Given the description of an element on the screen output the (x, y) to click on. 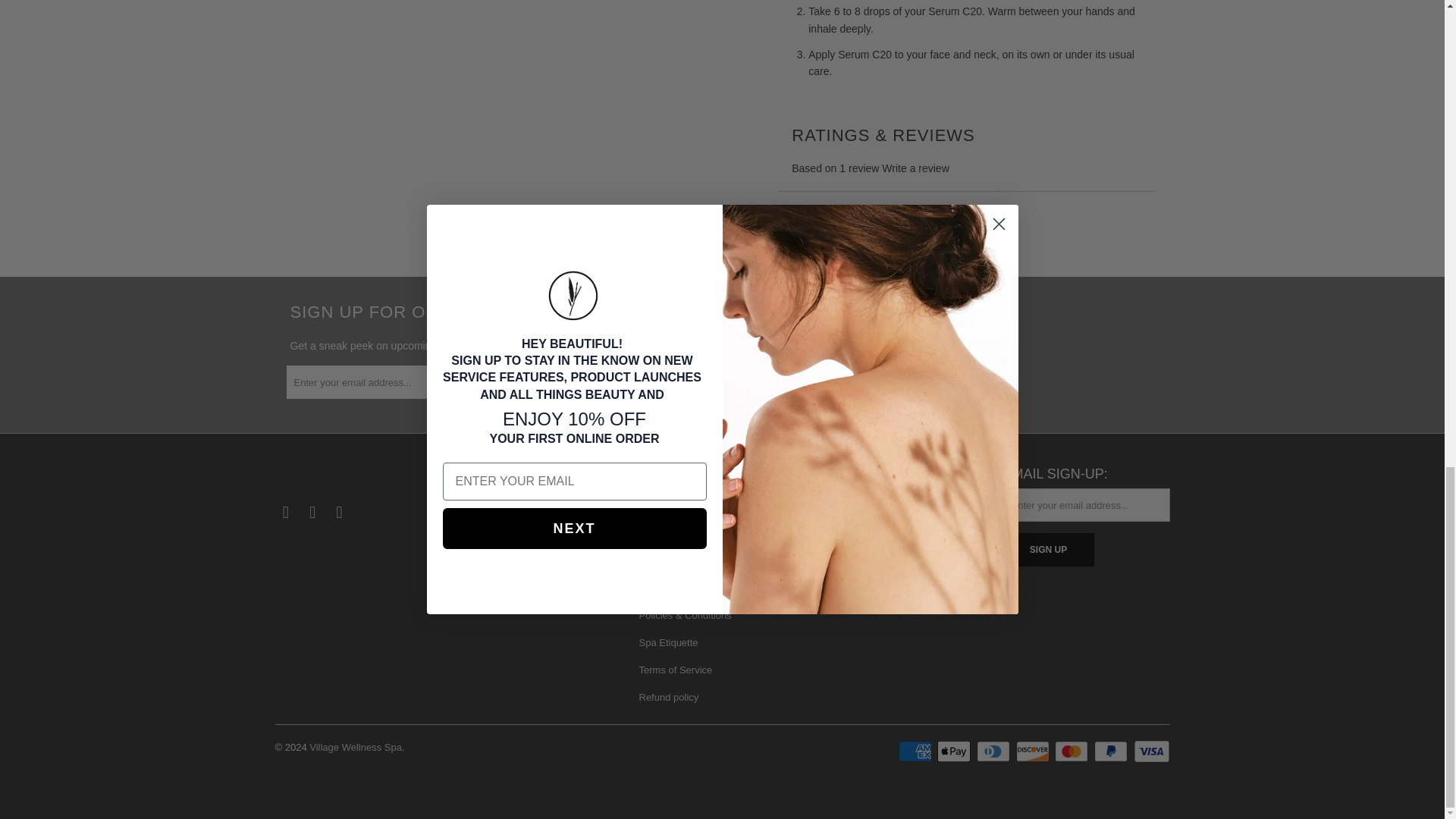
Visa (1150, 751)
PayPal (1112, 751)
Village Wellness Spa on Instagram (312, 512)
American Express (916, 751)
Share this on Facebook (834, 223)
Sign Up (1048, 549)
Share this on Twitter (793, 223)
Email Village Wellness Spa (339, 512)
Discover (1034, 751)
Share this on Pinterest (875, 223)
Village Wellness Spa on Facebook (286, 512)
Sign Up (582, 381)
Apple Pay (955, 751)
Email this to a friend (914, 223)
Diners Club (994, 751)
